Given the description of an element on the screen output the (x, y) to click on. 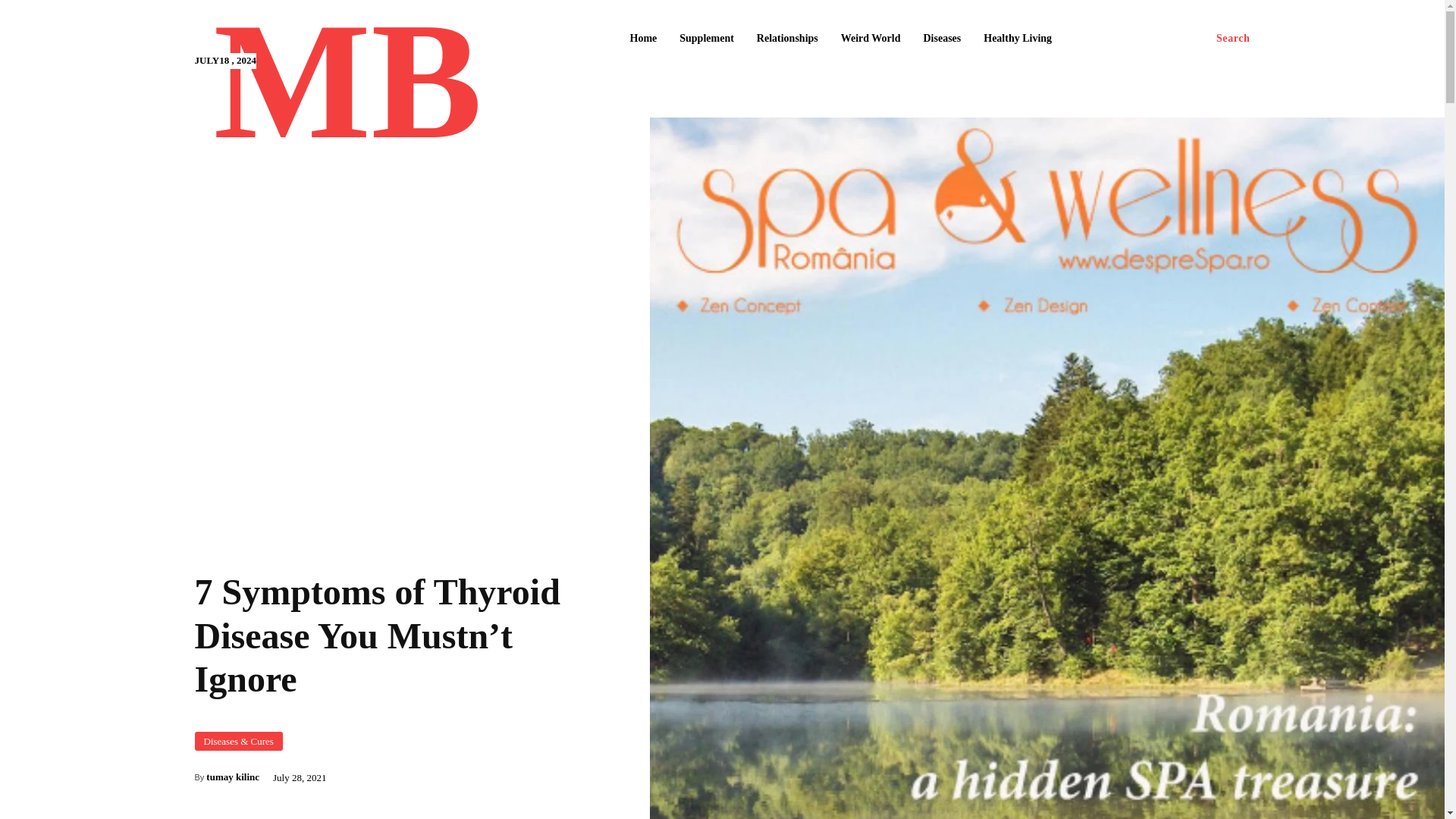
Diseases (941, 38)
Home (642, 38)
Weird World (870, 38)
Supplement (706, 38)
Search (1232, 38)
Relationships (787, 38)
MB (347, 90)
tumay kilinc (232, 777)
Healthy Living (1017, 38)
